Given the description of an element on the screen output the (x, y) to click on. 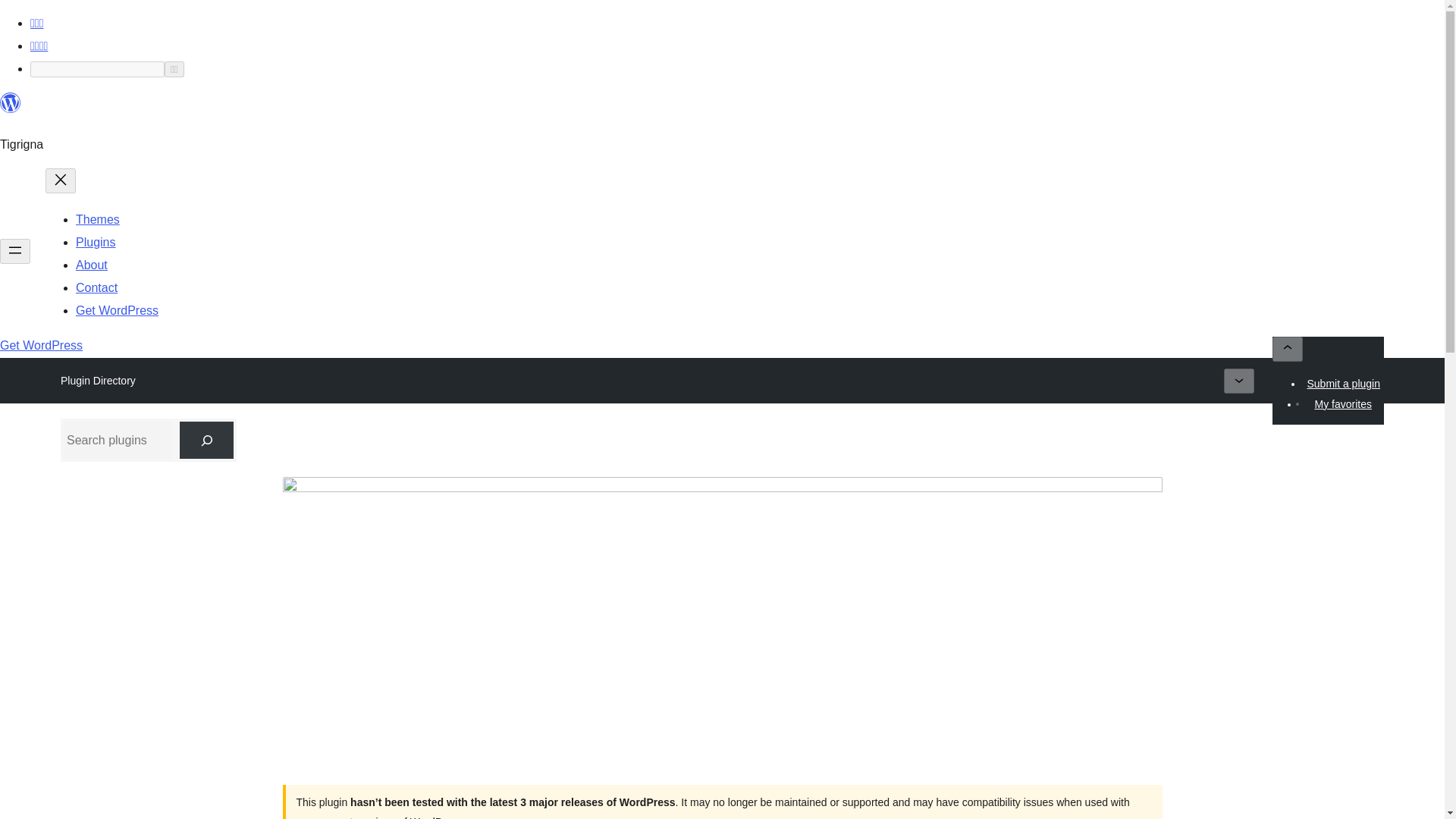
WordPress.org (10, 102)
About (91, 264)
Get WordPress (41, 345)
My favorites (1342, 403)
Contact (96, 287)
Submit a plugin (1343, 383)
Get WordPress (116, 309)
WordPress.org (10, 109)
Plugin Directory (97, 380)
Themes (97, 219)
Plugins (95, 241)
